Given the description of an element on the screen output the (x, y) to click on. 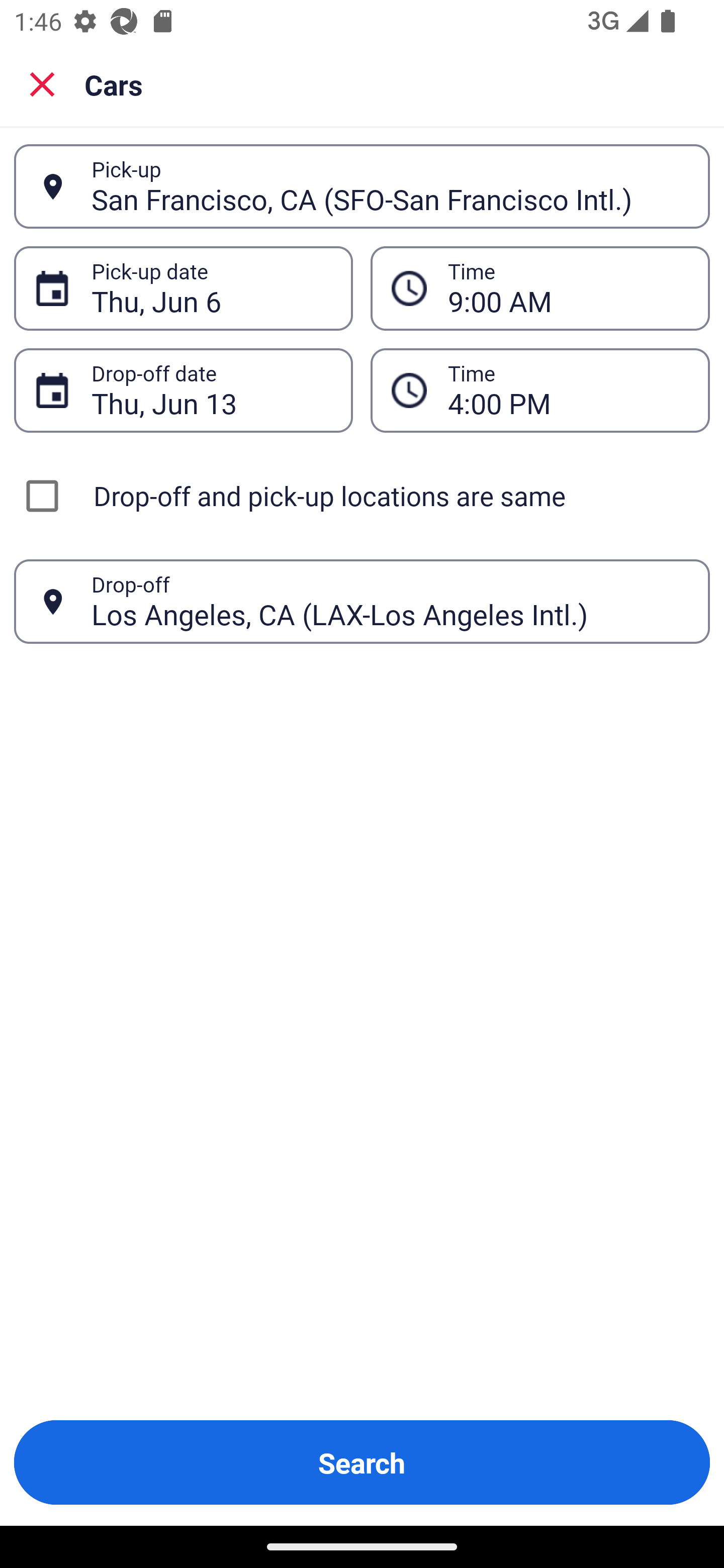
Close search screen (42, 84)
San Francisco, CA (SFO-San Francisco Intl.) (389, 186)
Thu, Jun 6 (211, 288)
9:00 AM (568, 288)
Thu, Jun 13 (211, 390)
4:00 PM (568, 390)
Drop-off and pick-up locations are same (361, 495)
Los Angeles, CA (LAX-Los Angeles Intl.) (389, 601)
Search Button Search (361, 1462)
